Given the description of an element on the screen output the (x, y) to click on. 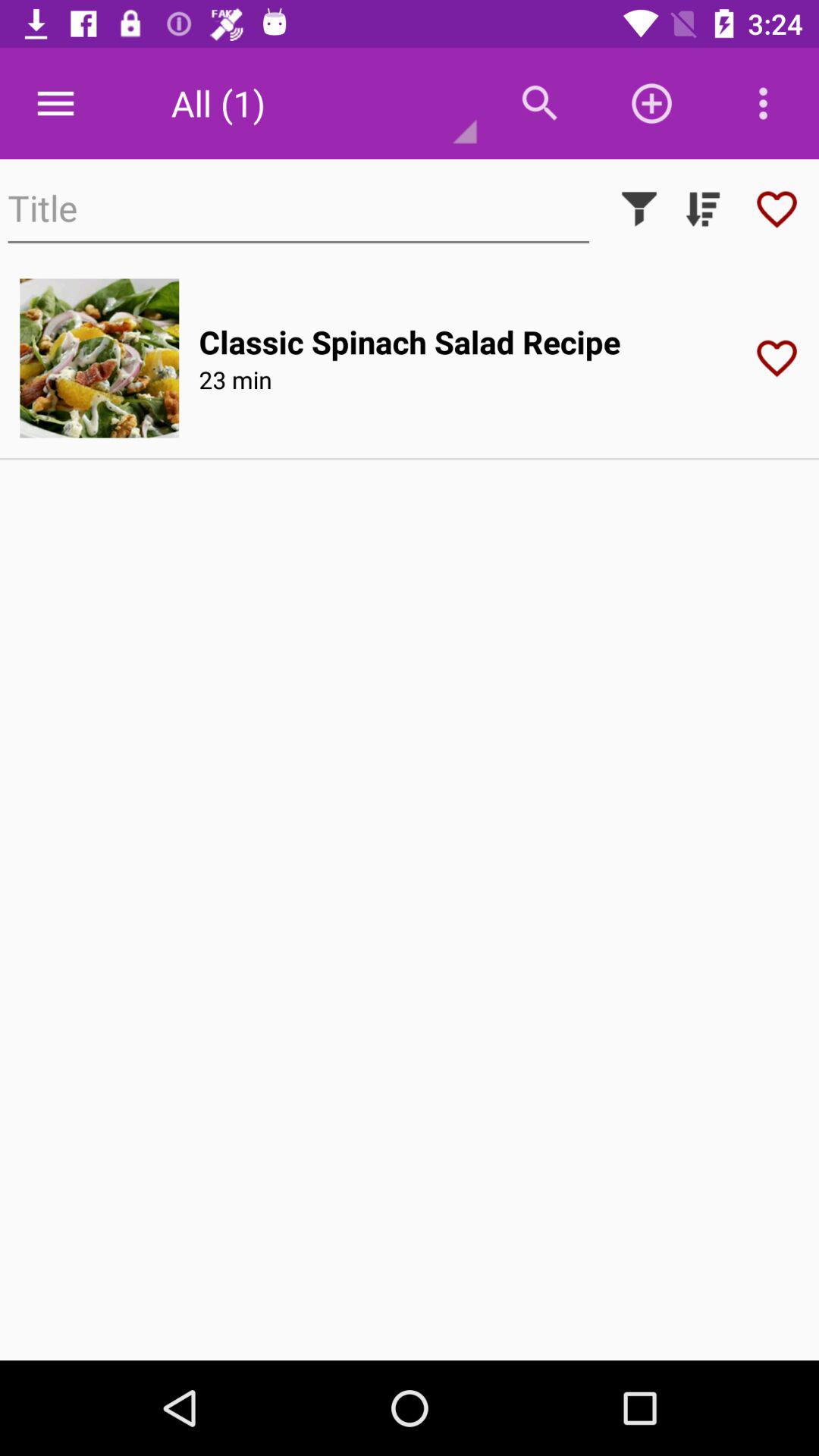
choose a meal option (99, 357)
